Given the description of an element on the screen output the (x, y) to click on. 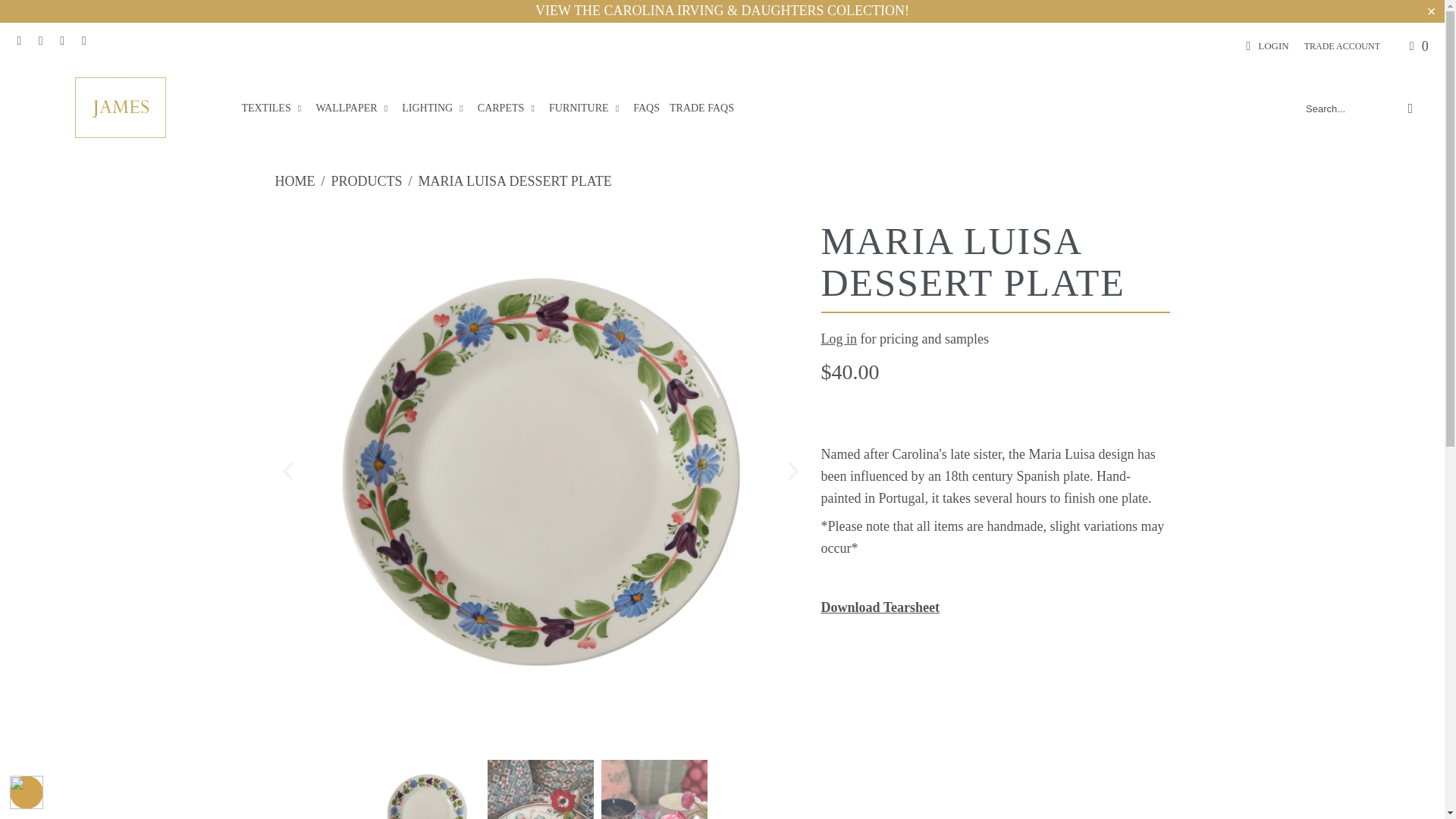
Email JAMES Showroom (17, 41)
Products (367, 181)
Accessibility Menu (26, 792)
JAMES Showroom on Instagram (61, 41)
JAMES Showroom on Pinterest (81, 41)
JAMES Showroom (294, 181)
JAMES Showroom on Facebook (39, 41)
My Account  (1264, 46)
JAMES Showroom (120, 108)
